Given the description of an element on the screen output the (x, y) to click on. 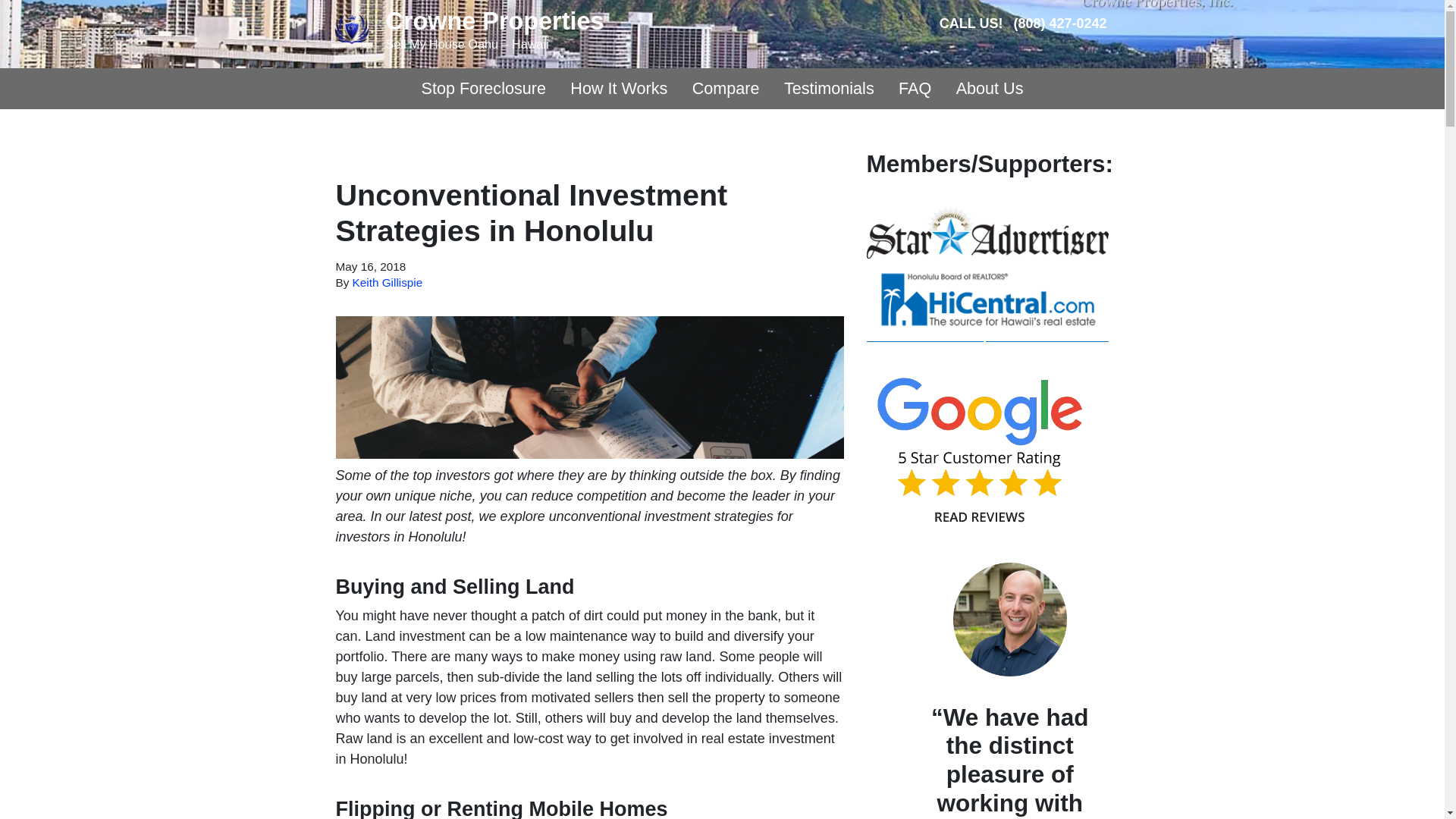
Testimonials (828, 87)
Compare (725, 87)
Stop Foreclosure (483, 87)
Compare (725, 87)
About Us (989, 87)
FAQ (914, 87)
Keith Gillispie (387, 282)
How It Works (618, 87)
Stop Foreclosure (483, 87)
How It Works (618, 87)
